Given the description of an element on the screen output the (x, y) to click on. 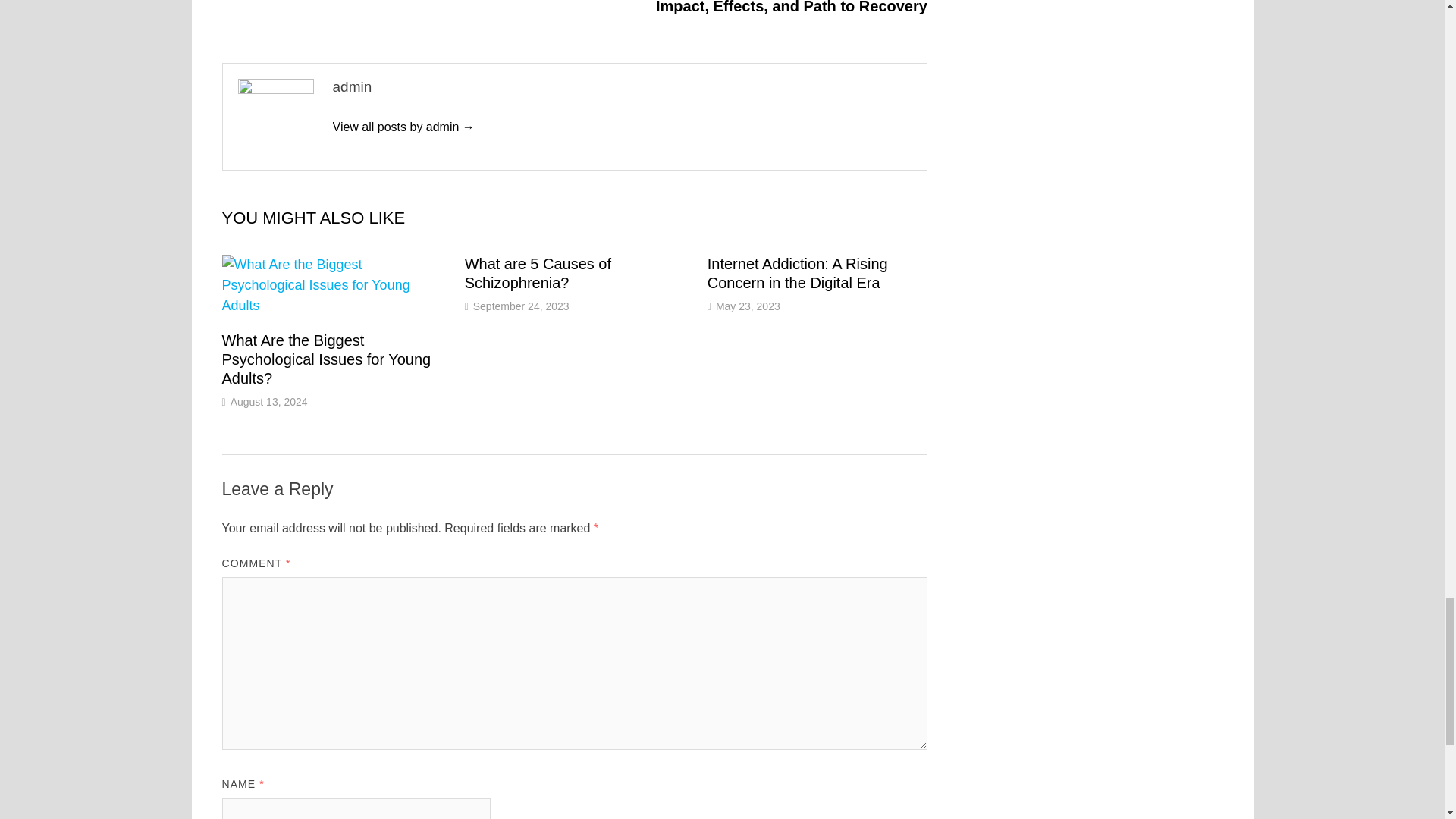
What are 5 Causes of Schizophrenia? (537, 273)
August 13, 2024 (268, 401)
September 24, 2023 (521, 306)
admin (402, 126)
What Are the Biggest Psychological Issues for Young Adults? (325, 359)
What Are the Biggest Psychological Issues for Young Adults? (325, 359)
Internet Addiction: A Rising Concern in the Digital Era (797, 273)
May 23, 2023 (748, 306)
What are 5 Causes of Schizophrenia? (537, 273)
